Given the description of an element on the screen output the (x, y) to click on. 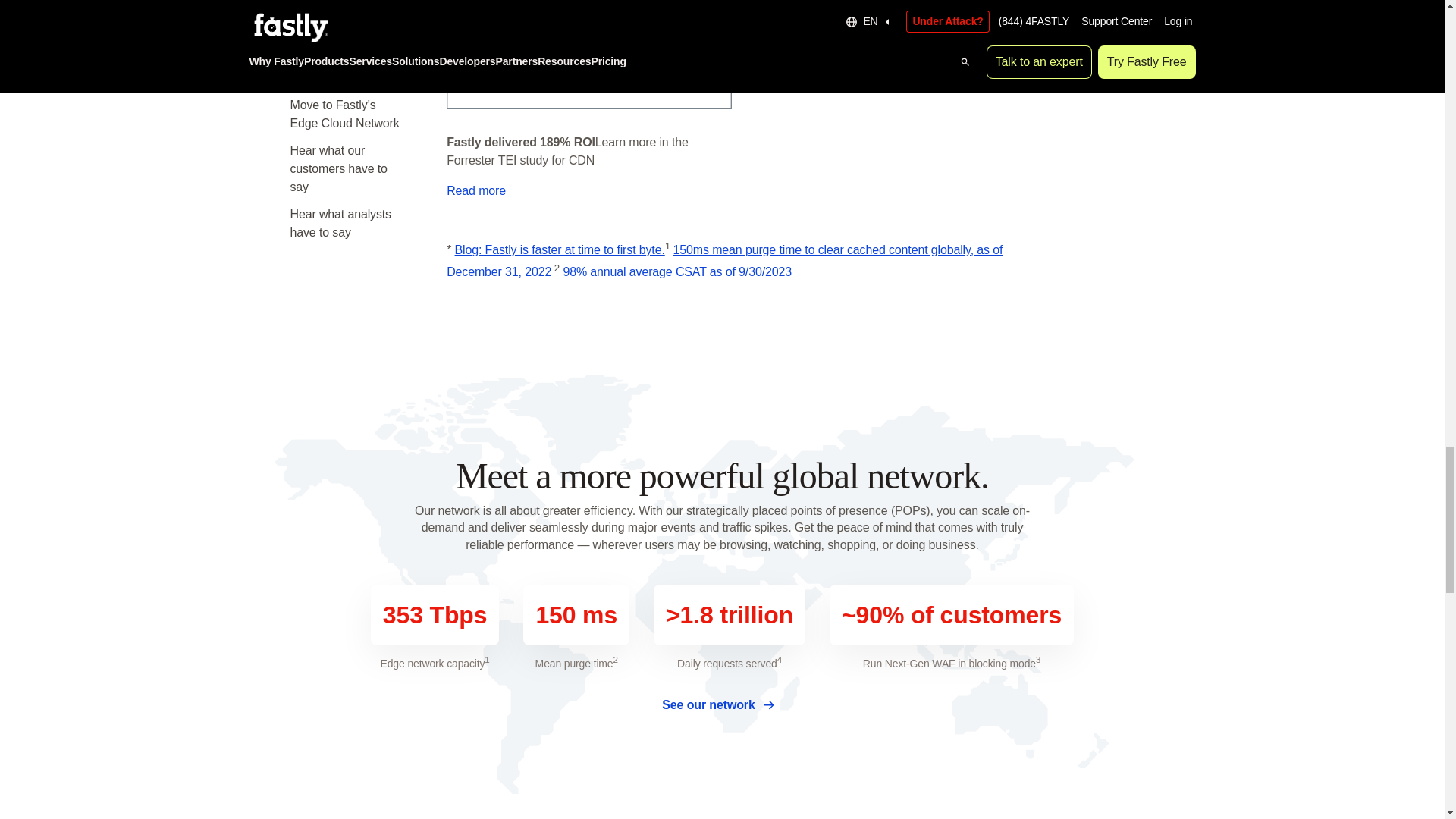
Read more (475, 190)
See our network (721, 705)
Blog: Fastly is faster at time to first byte. (559, 249)
Download report (793, 47)
